Given the description of an element on the screen output the (x, y) to click on. 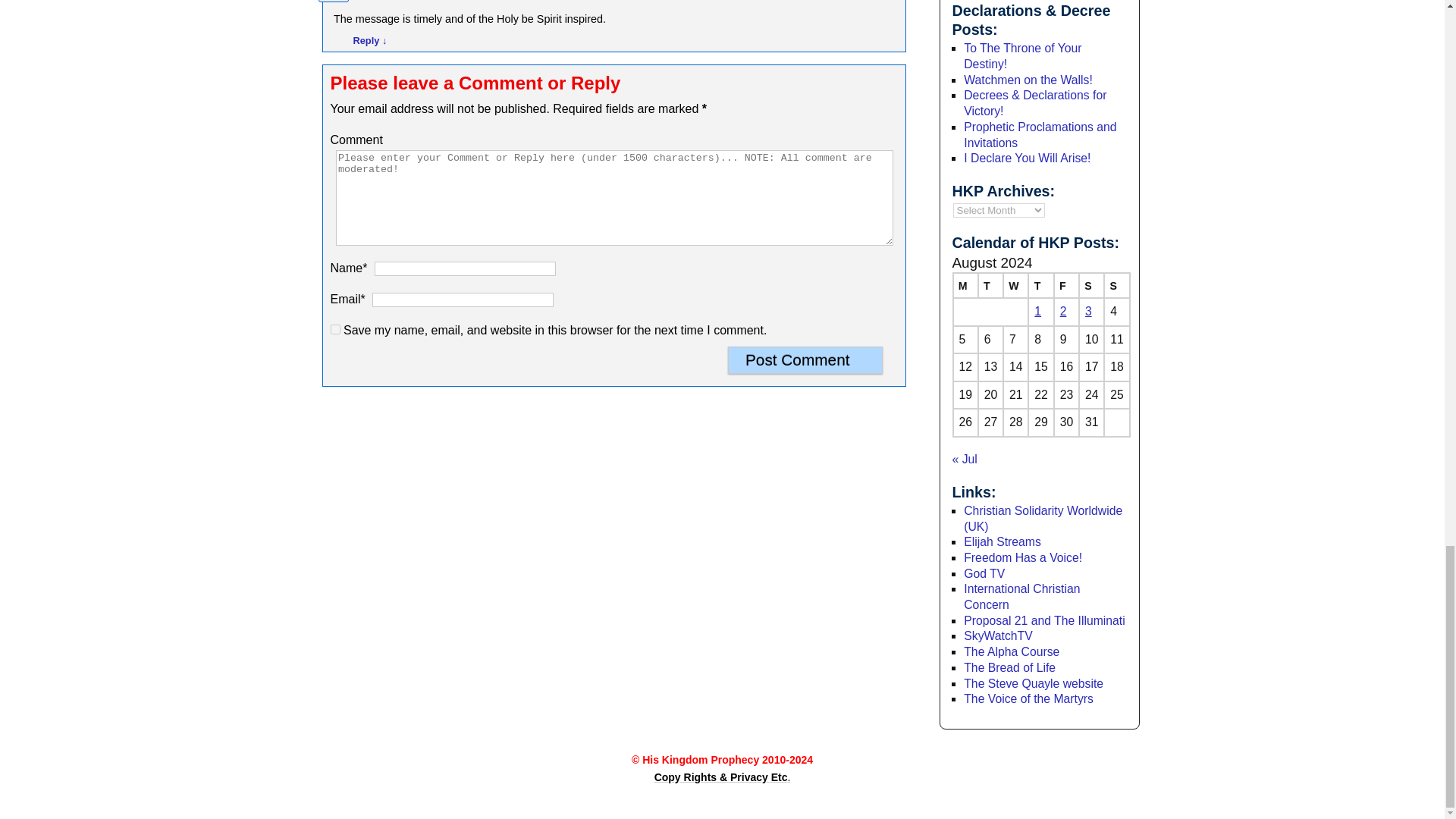
Sunday (1116, 285)
Tuesday (990, 285)
Friday (1066, 285)
Wednesday (1015, 285)
Monday (964, 285)
Post Comment (805, 359)
Thursday (1039, 285)
Saturday (1090, 285)
yes (335, 329)
